Given the description of an element on the screen output the (x, y) to click on. 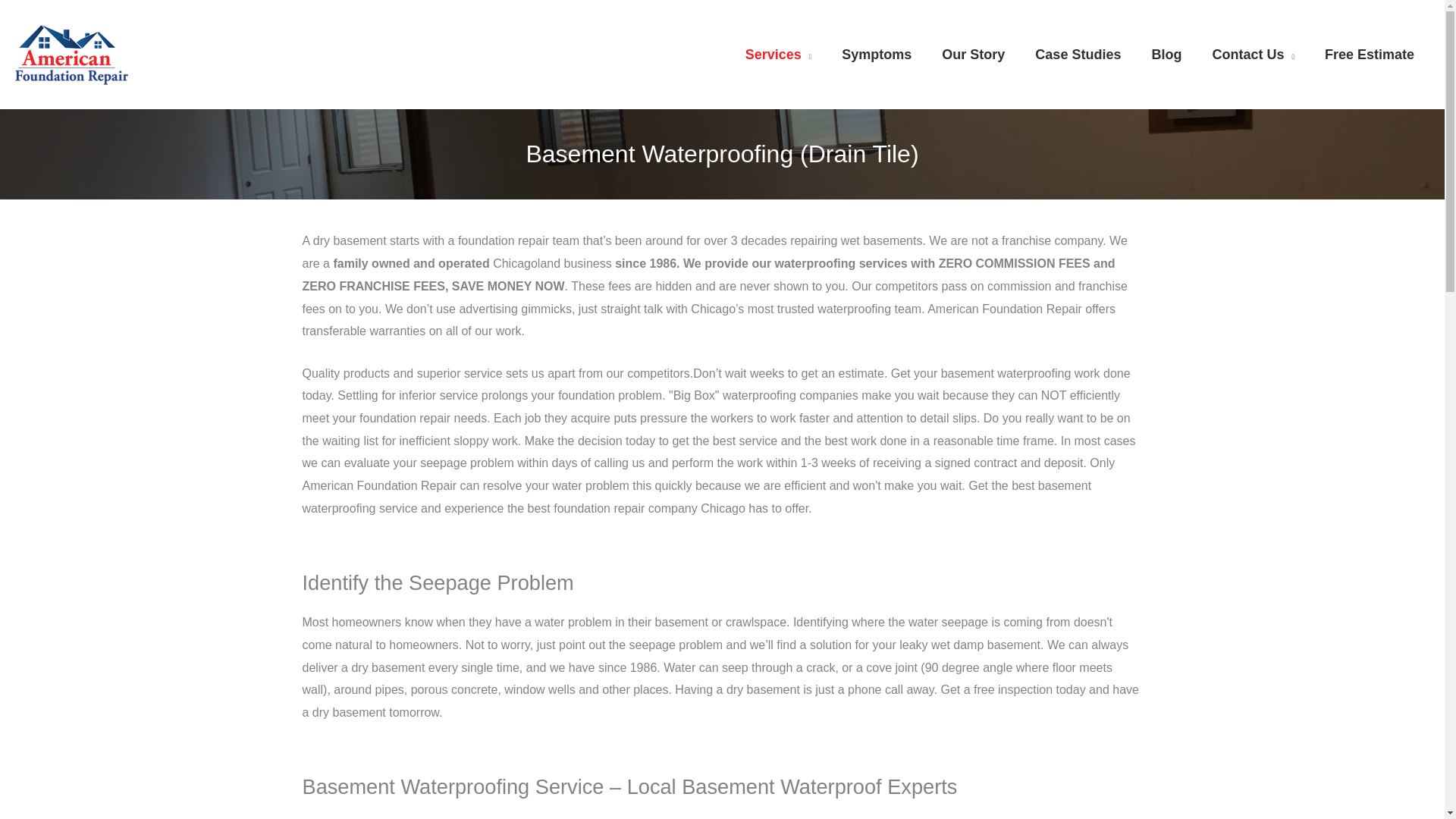
Free Estimate (1368, 54)
Our Story (973, 54)
Contact Us (1252, 54)
Services (778, 54)
Symptoms (876, 54)
Case Studies (1077, 54)
Blog (1165, 54)
